Given the description of an element on the screen output the (x, y) to click on. 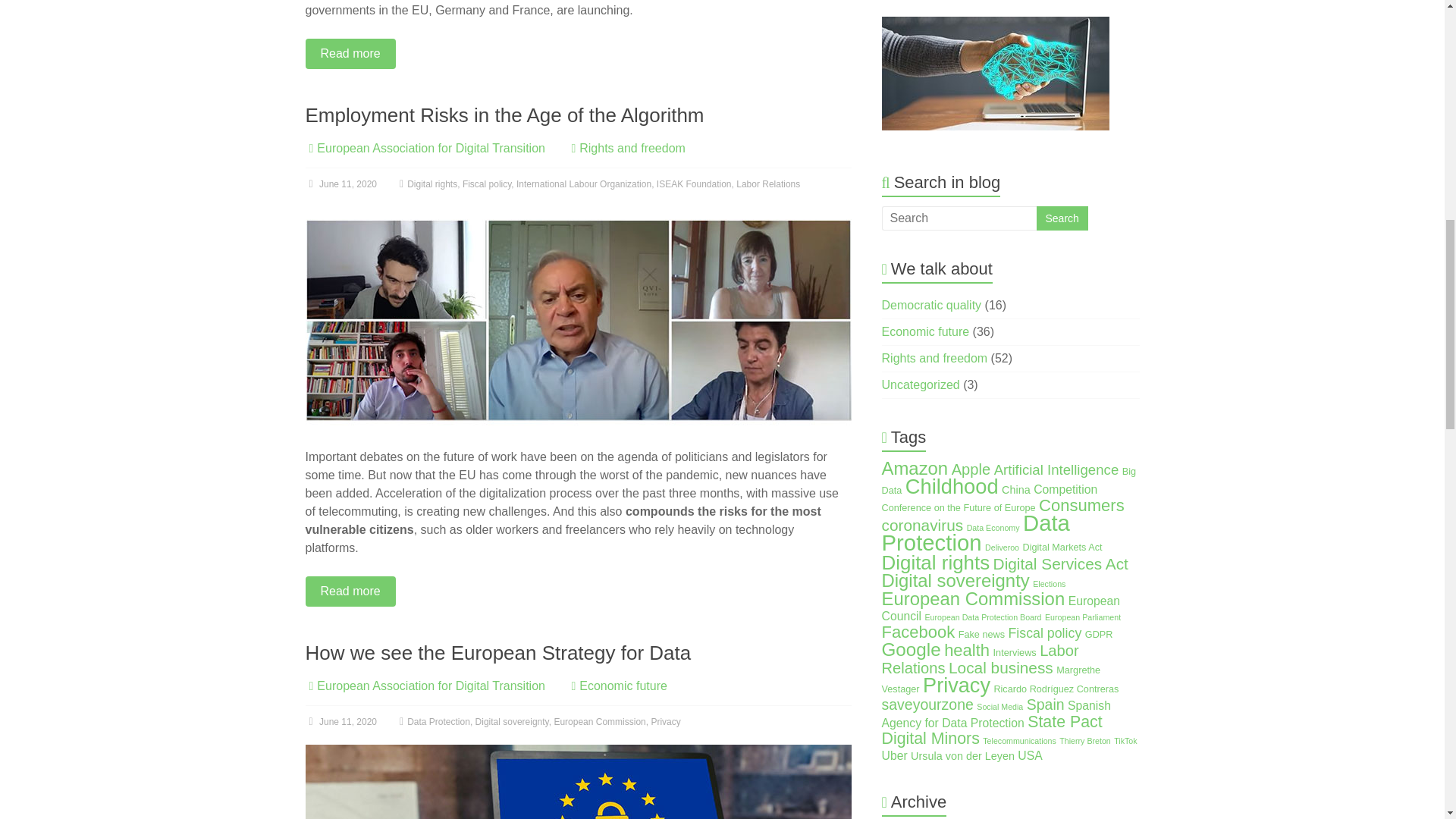
8:21 am (340, 721)
Read more (577, 53)
European Association for Digital Transition (430, 147)
Economic future (622, 685)
Read more (577, 591)
European Association for Digital Transition (430, 685)
10:25 am (340, 184)
How we see the European Strategy for Data (497, 652)
June 11, 2020 (340, 184)
Data Protection (438, 721)
Employment Risks in the Age of the Algorithm (577, 214)
ISEAK Foundation (694, 184)
Digital sovereignty (512, 721)
How we see the European Strategy for Data (577, 781)
International Labour Organization (583, 184)
